Given the description of an element on the screen output the (x, y) to click on. 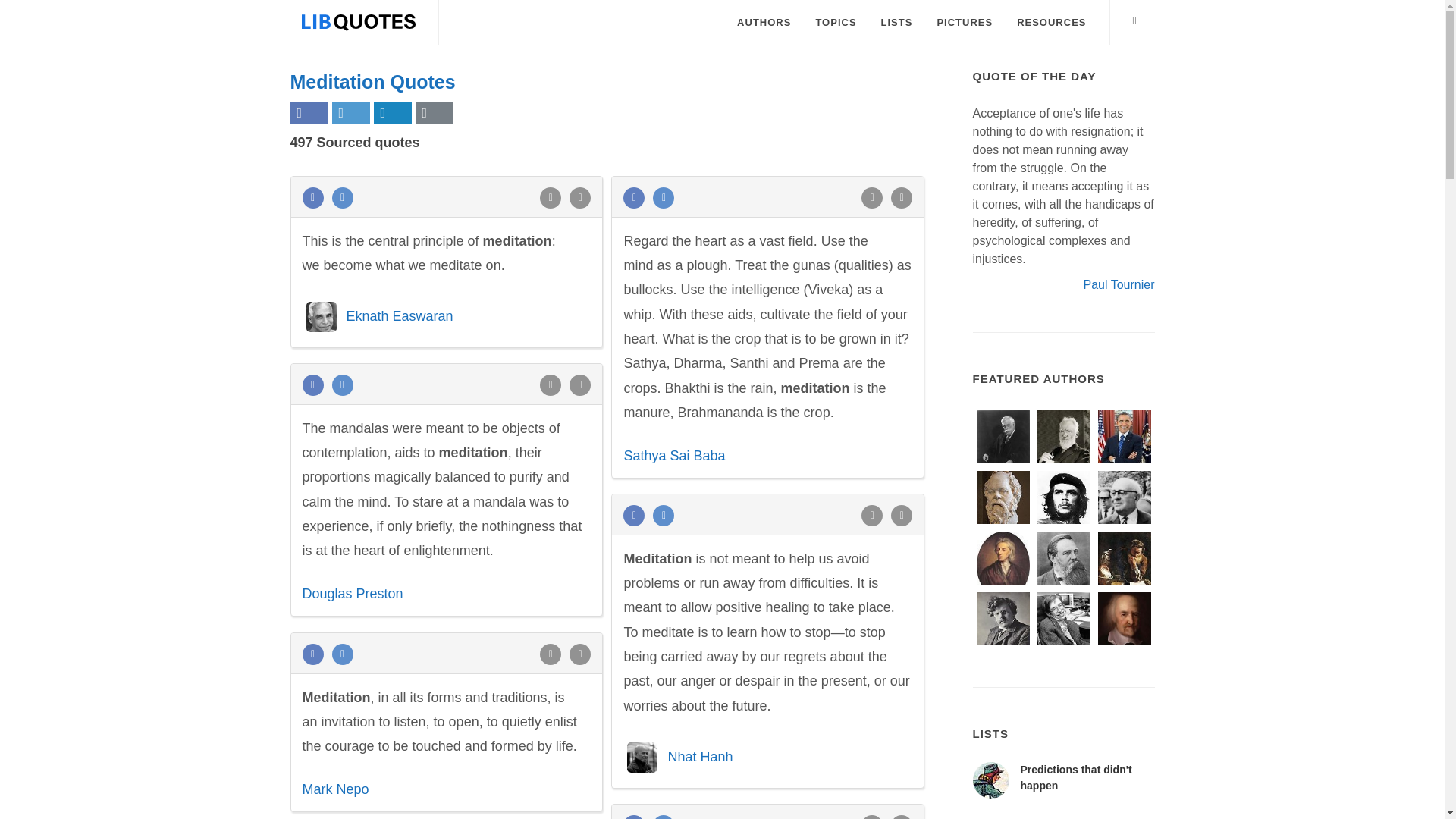
PICTURES (964, 22)
Eknath Easwaran (399, 315)
Sathya Sai Baba (674, 455)
RESOURCES (1051, 22)
Douglas Preston (352, 593)
LISTS (896, 22)
AUTHORS (763, 22)
TOPICS (835, 22)
